Given the description of an element on the screen output the (x, y) to click on. 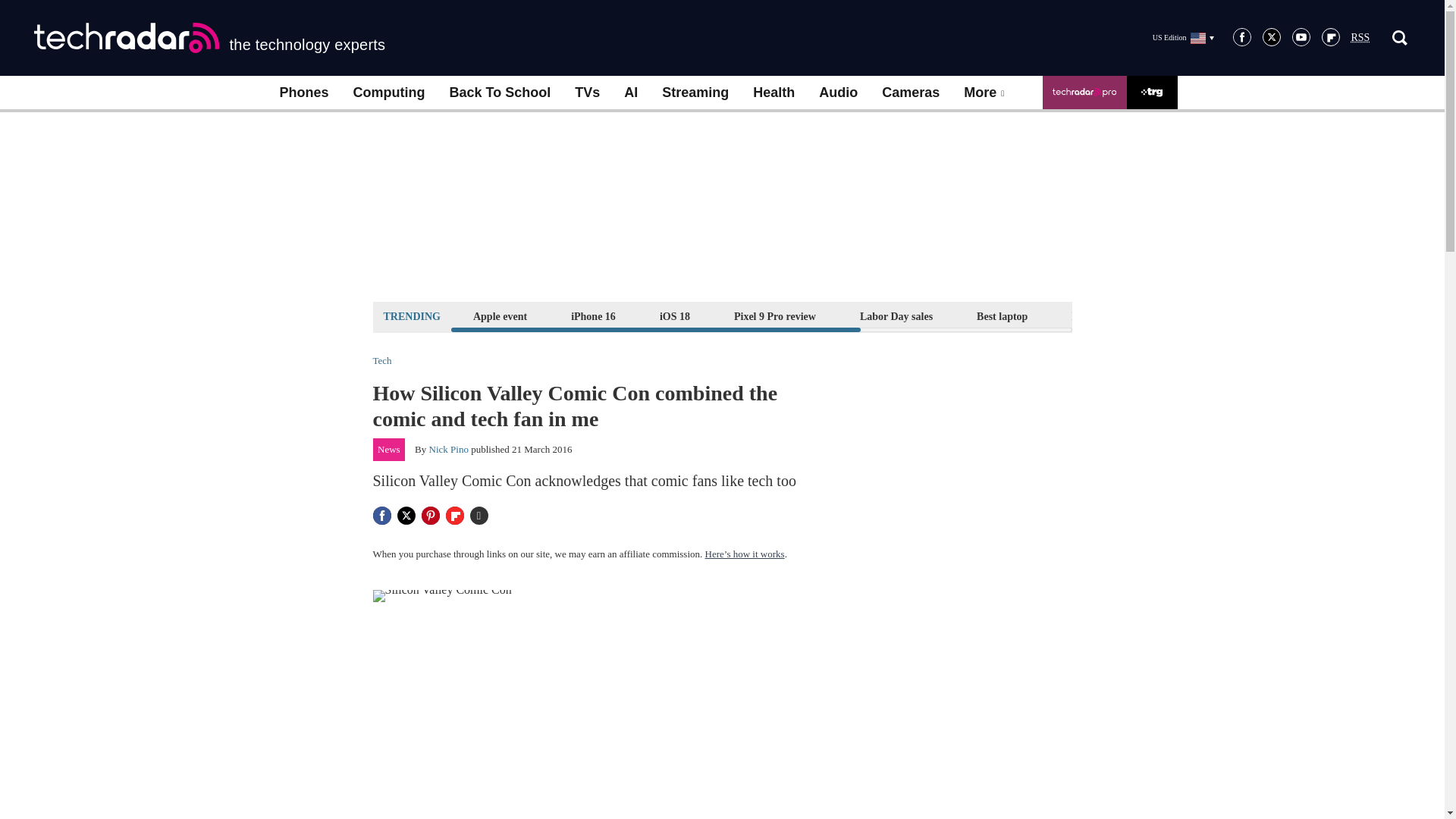
the technology experts (209, 38)
AI (630, 92)
Audio (837, 92)
Health (773, 92)
Streaming (695, 92)
Back To School (499, 92)
Really Simple Syndication (1360, 37)
TVs (586, 92)
Phones (303, 92)
Cameras (910, 92)
